Given the description of an element on the screen output the (x, y) to click on. 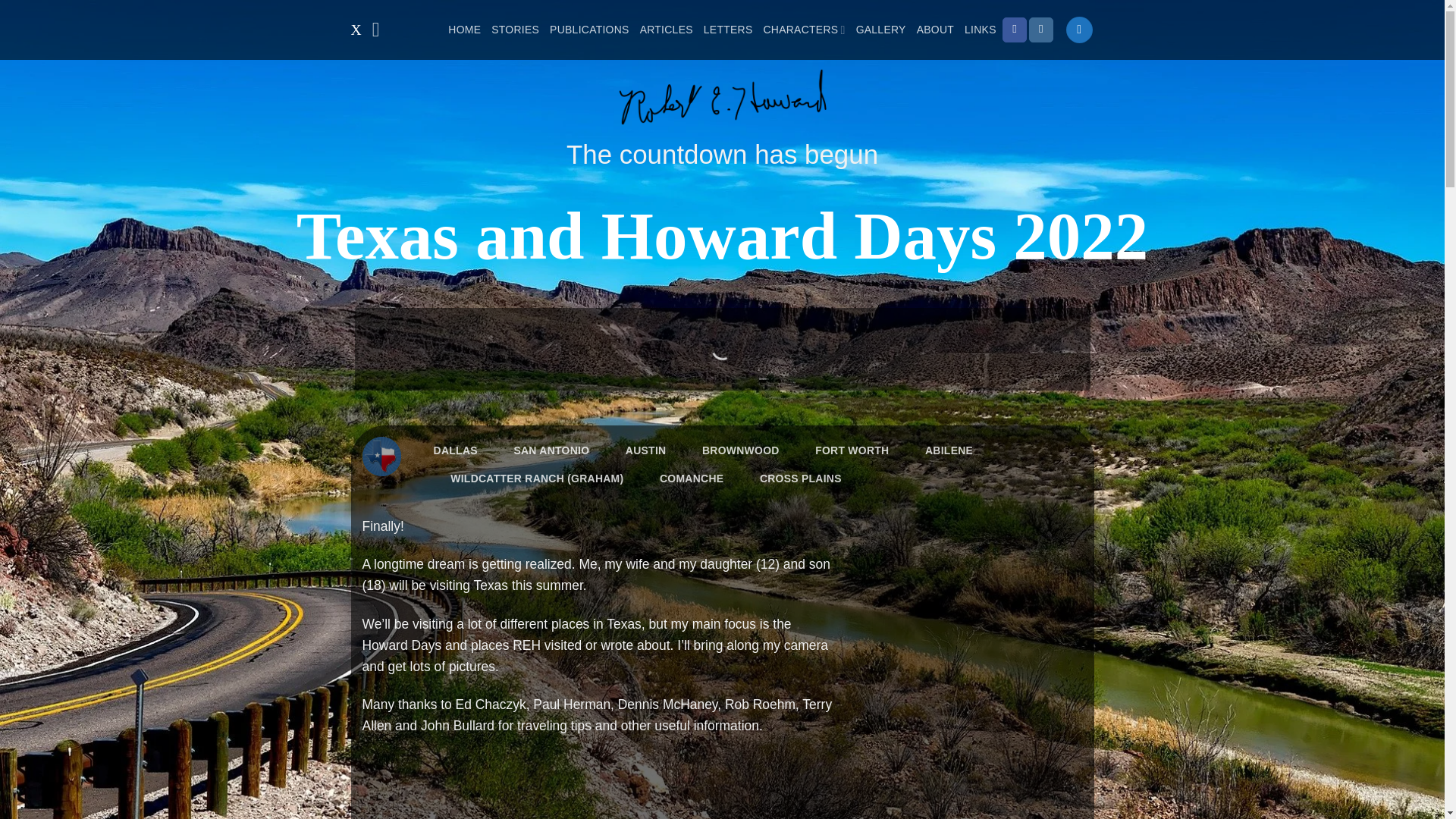
GALLERY (880, 29)
AUSTIN (645, 450)
DALLAS (454, 450)
SAN ANTONIO (550, 450)
PUBLICATIONS (589, 29)
FORT WORTH (852, 450)
LETTERS (727, 29)
ARTICLES (666, 29)
ABOUT (935, 29)
HOME (464, 29)
COMANCHE (691, 479)
CHARACTERS (803, 29)
Follow on Facebook (1014, 29)
LINKS (979, 29)
